Given the description of an element on the screen output the (x, y) to click on. 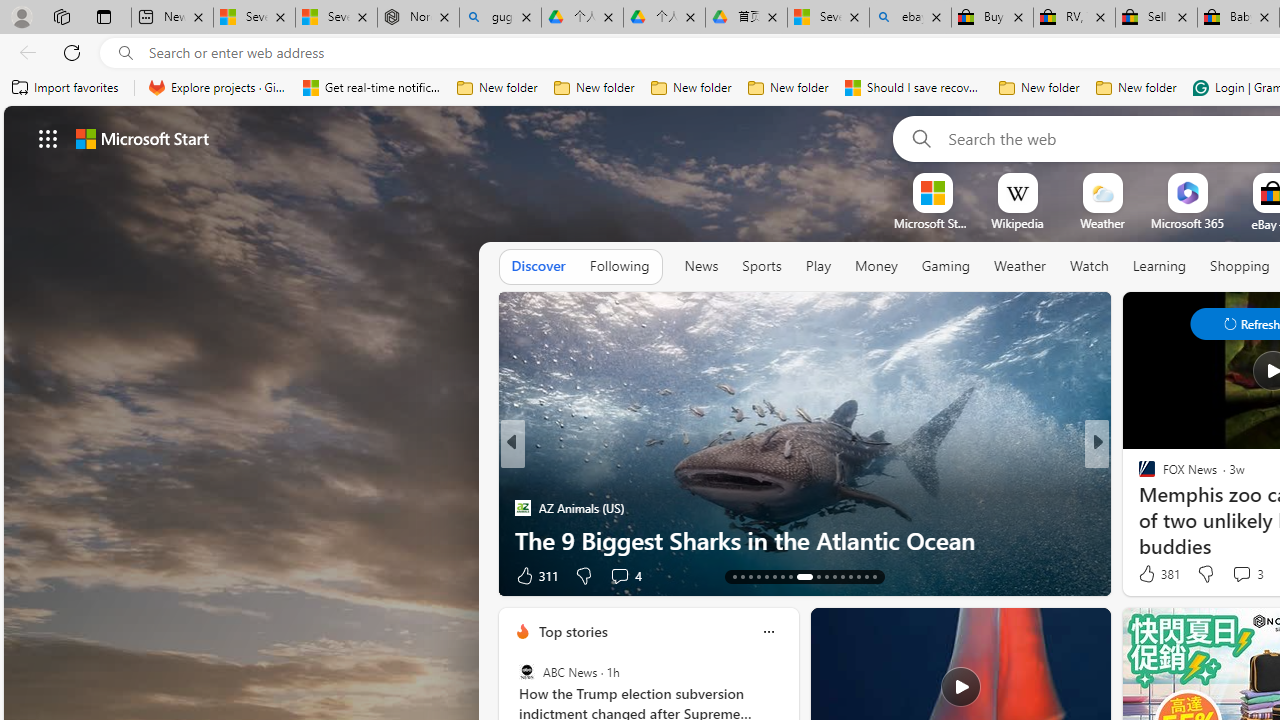
Should I save recovered Word documents? - Microsoft Support (913, 88)
Start the conversation (1235, 574)
Discover (538, 267)
Microsoft 365 (1186, 223)
AutomationID: tab-29 (874, 576)
Import favorites (65, 88)
More options (768, 631)
View comments 1 Comment (618, 574)
AutomationID: waffle (47, 138)
Sell worldwide with eBay (1156, 17)
Learning (1159, 265)
Ad (1142, 575)
Shopping (1240, 265)
New tab (171, 17)
